Given the description of an element on the screen output the (x, y) to click on. 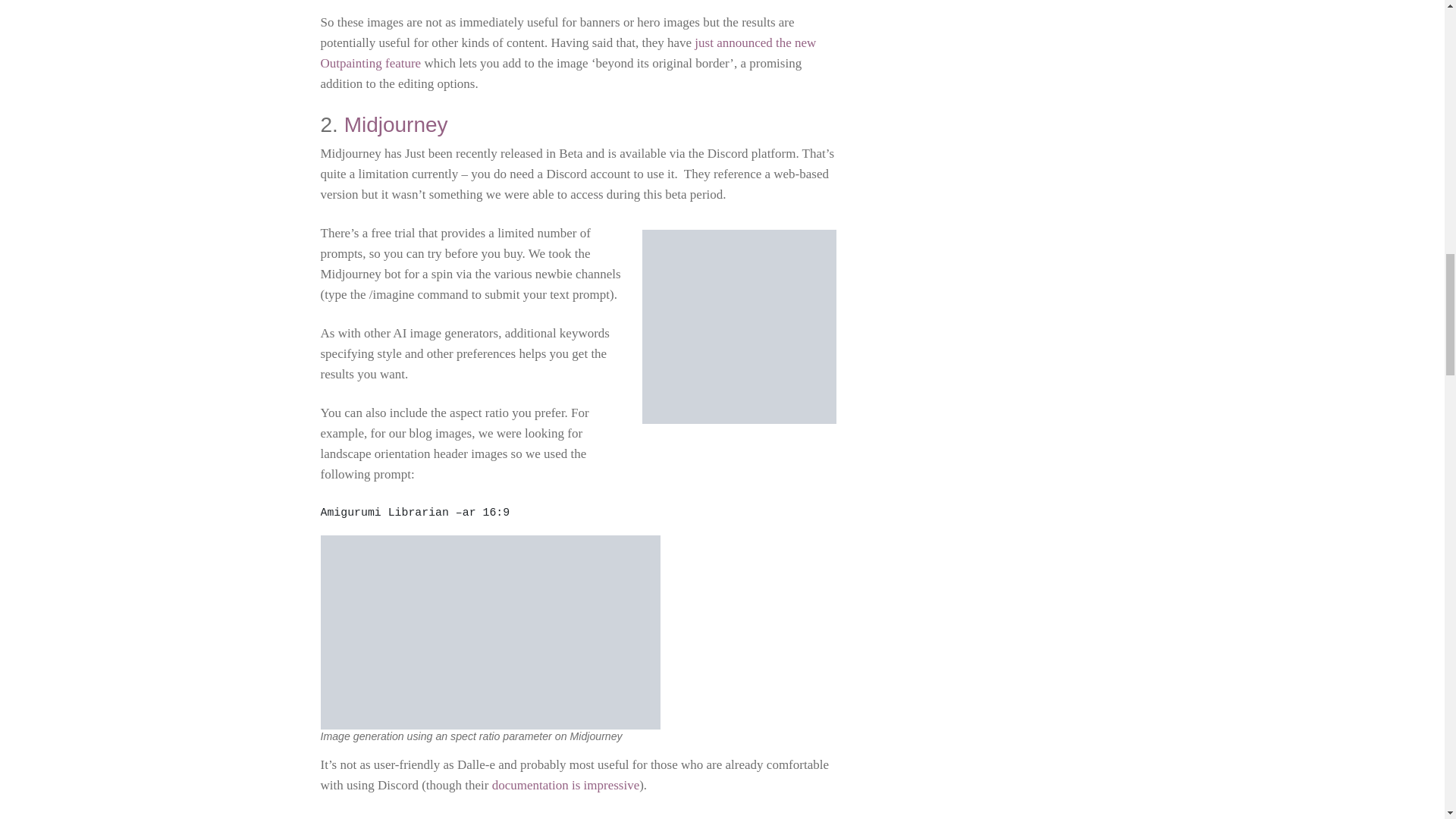
documentation is impressive (566, 785)
just announced the new Outpainting feature (567, 53)
Midjourney (395, 124)
